Given the description of an element on the screen output the (x, y) to click on. 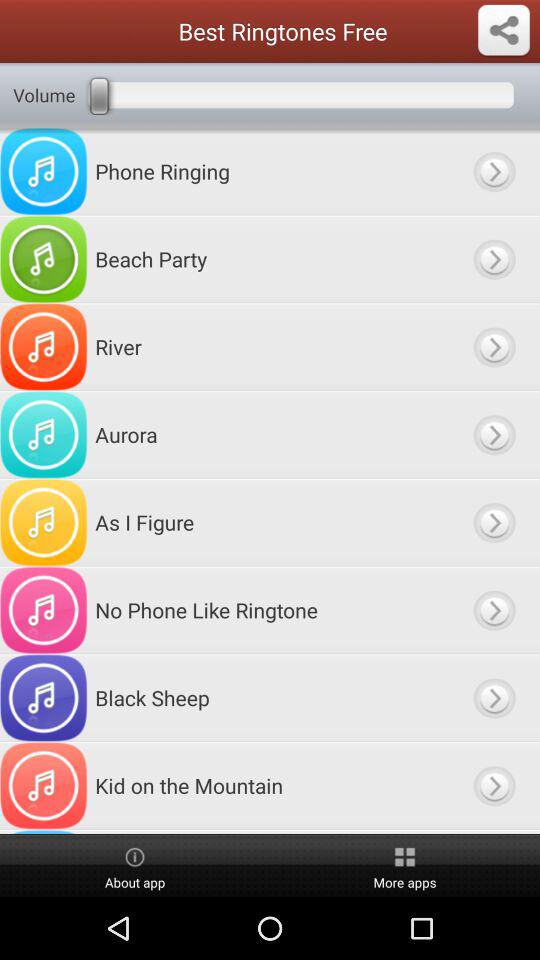
open beach party (494, 259)
